Given the description of an element on the screen output the (x, y) to click on. 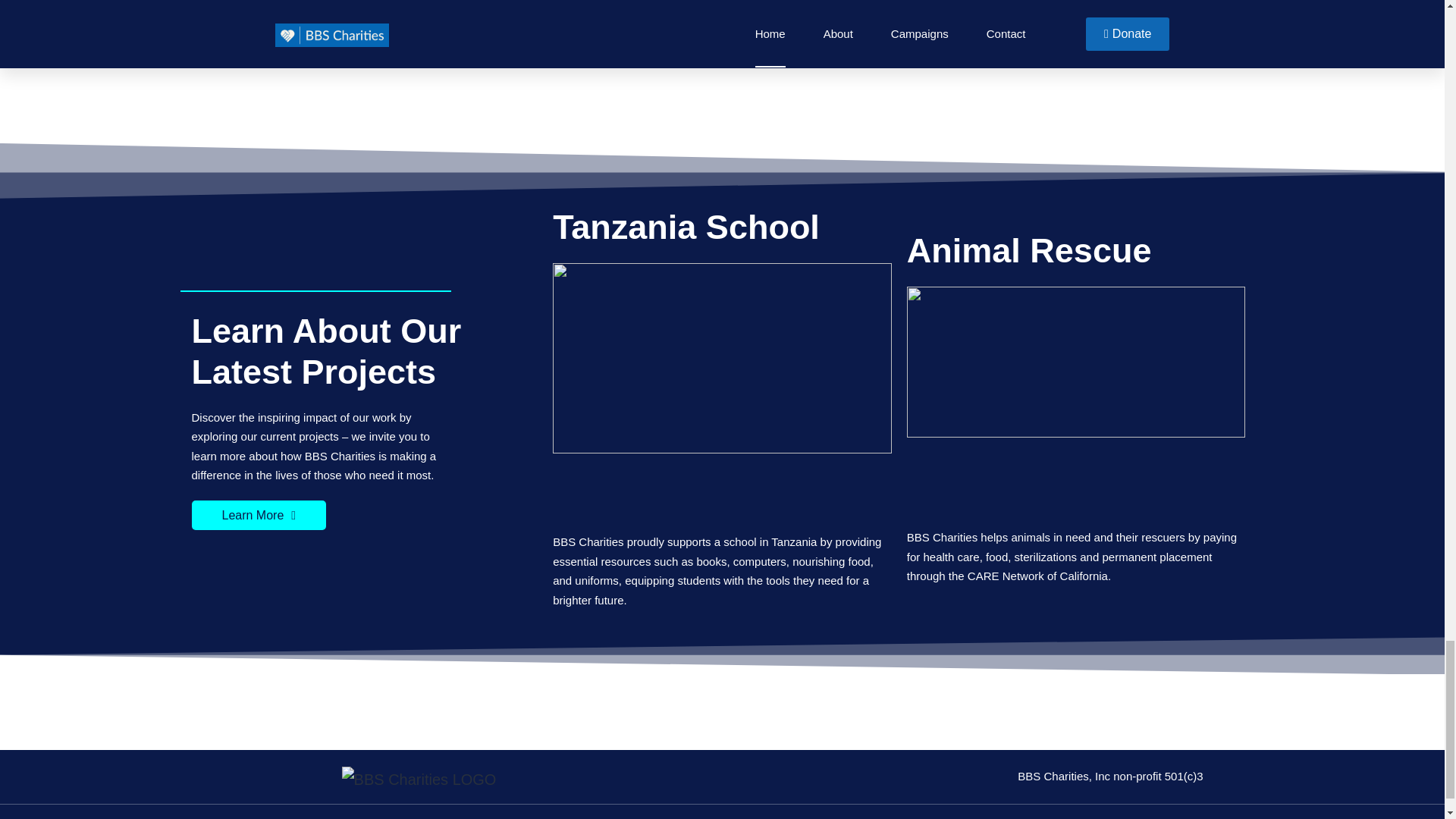
BBS Charities LOGO (419, 777)
Learn More (258, 514)
